Given the description of an element on the screen output the (x, y) to click on. 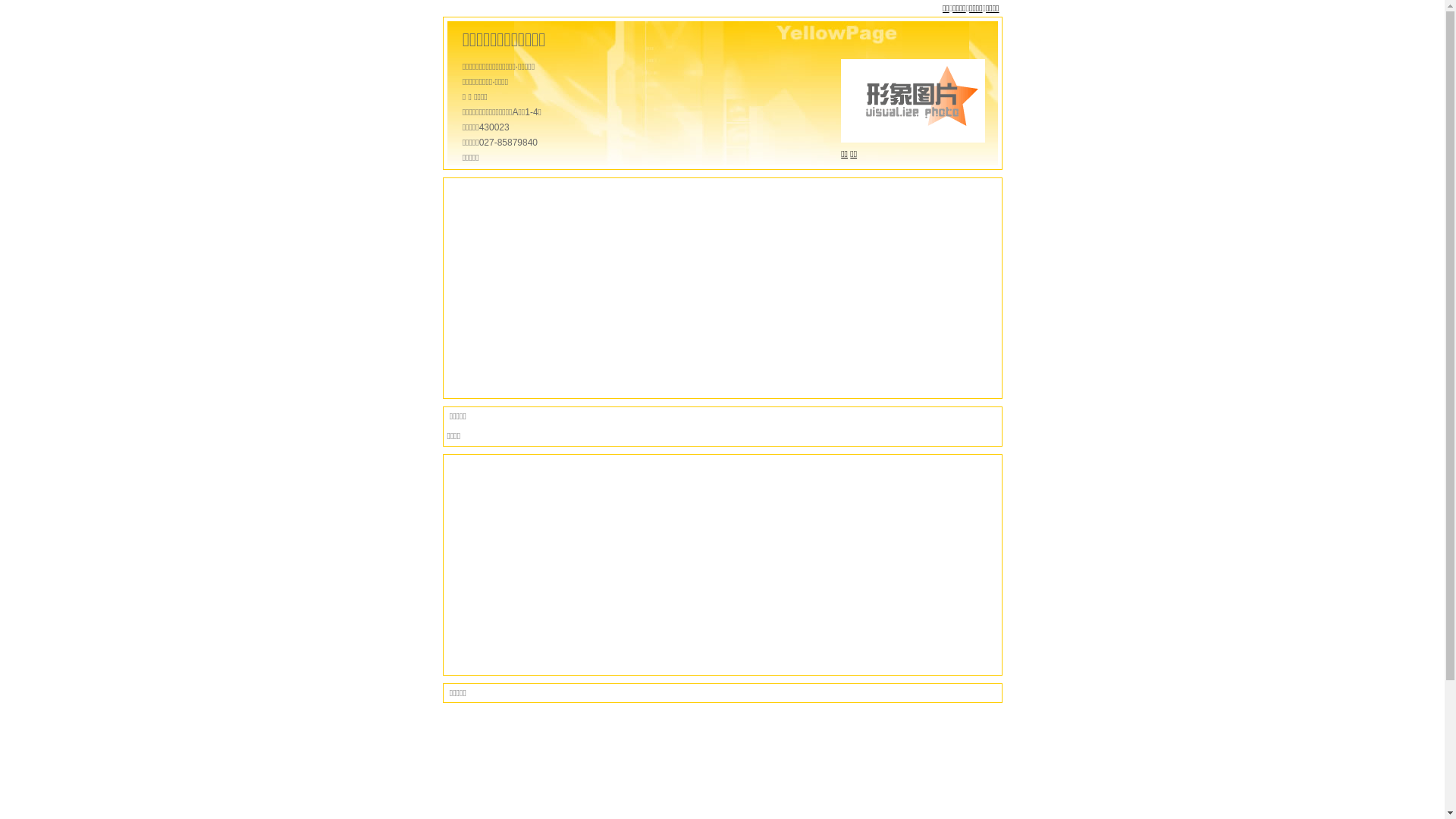
Advertisement Element type: hover (722, 288)
Advertisement Element type: hover (722, 564)
